Given the description of an element on the screen output the (x, y) to click on. 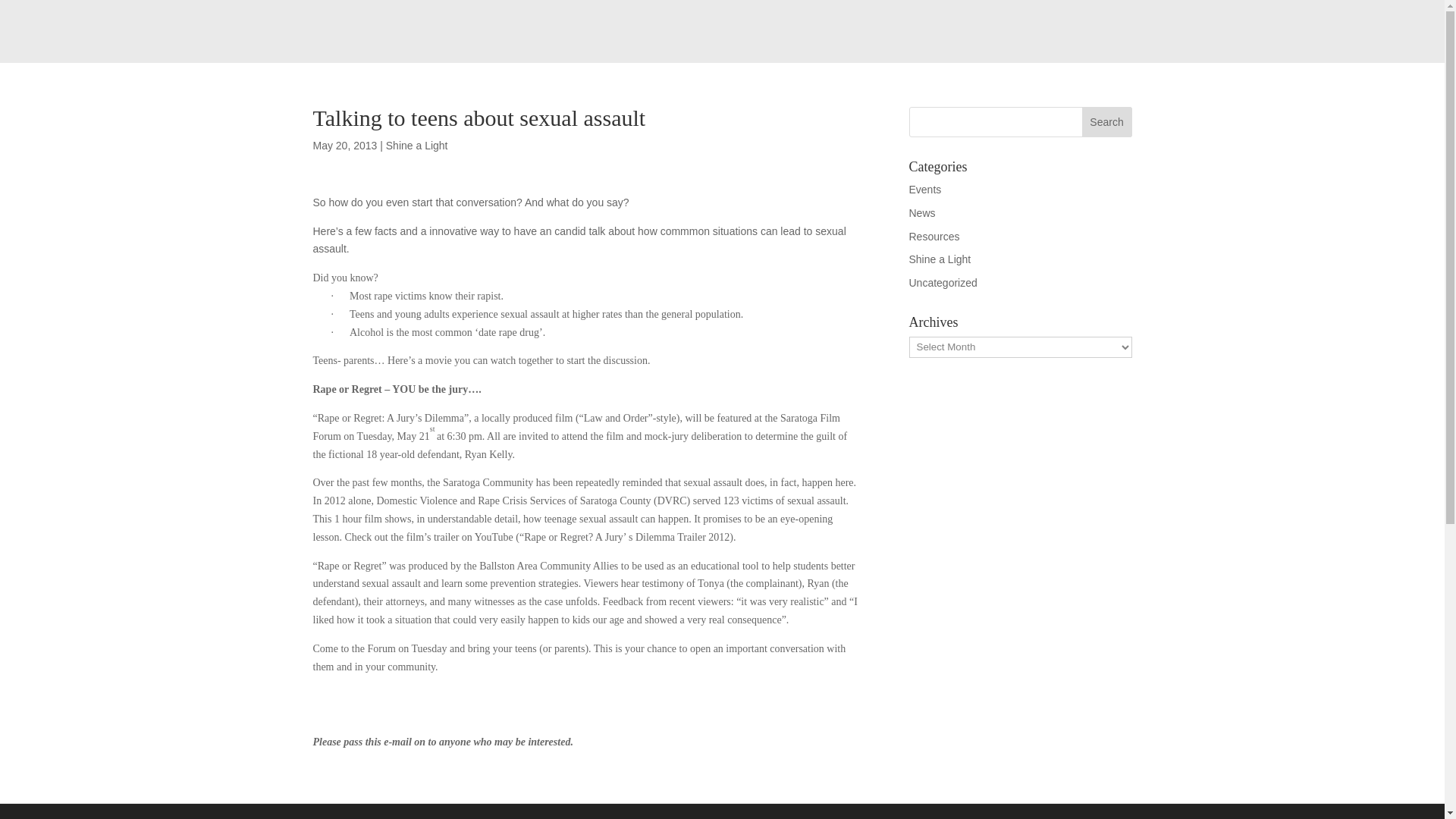
Search (1106, 122)
Shine a Light (416, 145)
Uncategorized (942, 282)
Search (1106, 122)
News (921, 213)
Events (924, 189)
Shine a Light (939, 259)
Resources (933, 236)
